Given the description of an element on the screen output the (x, y) to click on. 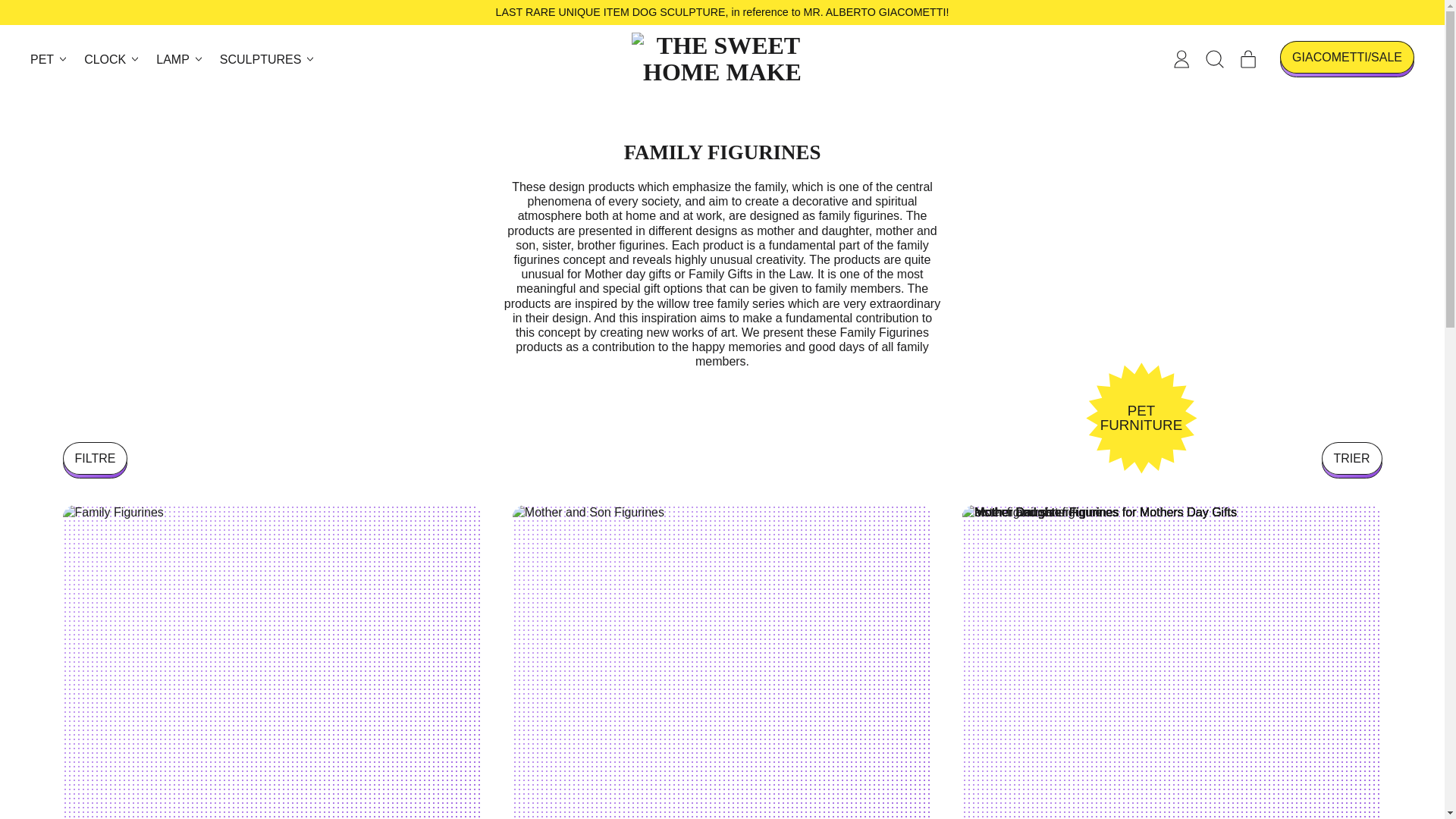
SCULPTURES (268, 58)
CLOCK (112, 58)
PET (50, 58)
PET FURNITURE (1141, 418)
LAMP (180, 58)
PET FURNITURE (1141, 418)
